Given the description of an element on the screen output the (x, y) to click on. 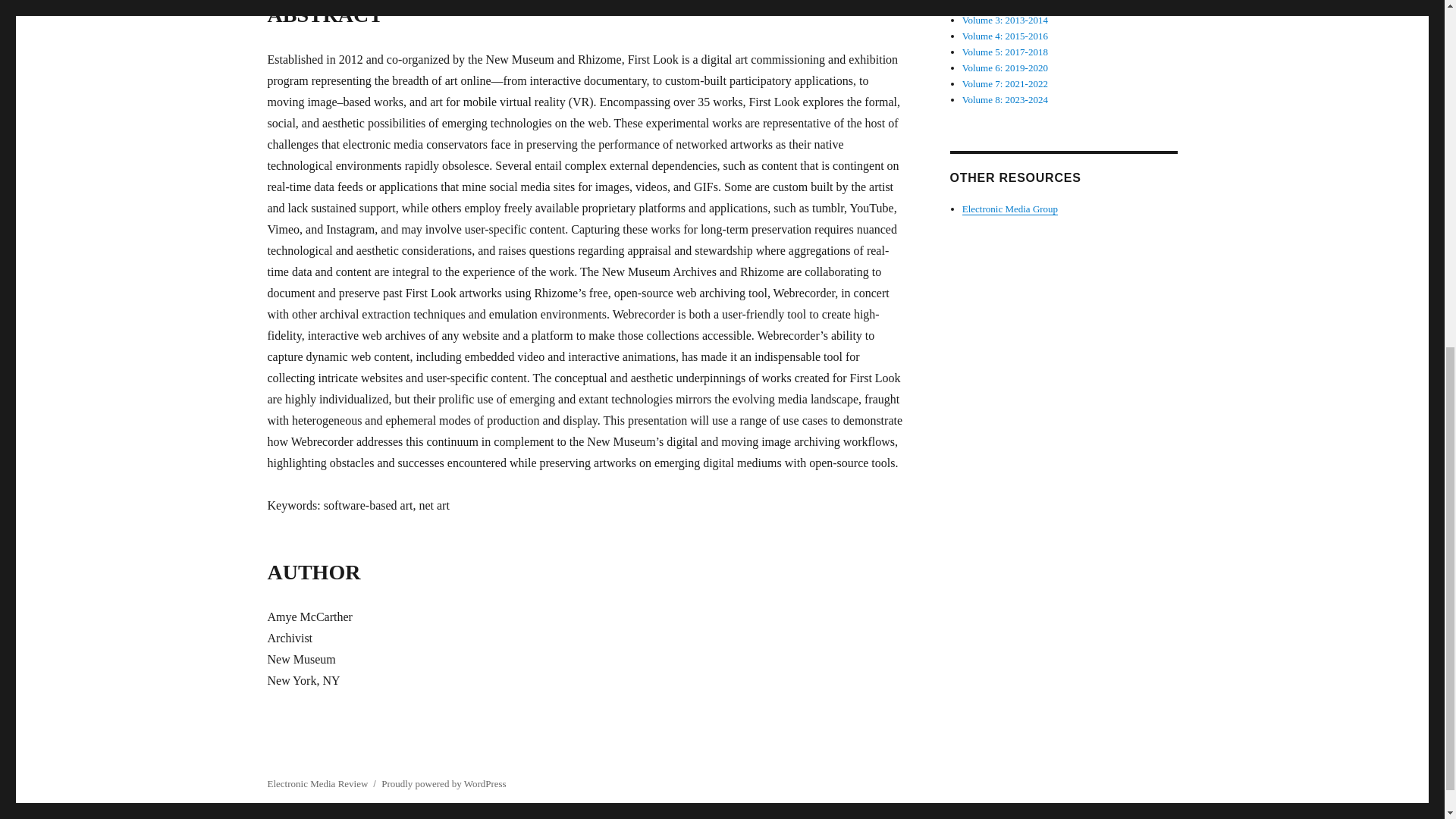
Electronic Media Review (317, 783)
Volume 7: 2021-2022 (1005, 83)
Volume 2: 2011-2012 (1005, 4)
Proudly powered by WordPress (443, 783)
Volume 3: 2013-2014 (1005, 19)
Volume 8: 2023-2024 (1005, 99)
Volume 4: 2015-2016 (1005, 35)
Volume 6: 2019-2020 (1005, 67)
Volume 5: 2017-2018 (1005, 51)
Electronic Media Group (1010, 208)
